Given the description of an element on the screen output the (x, y) to click on. 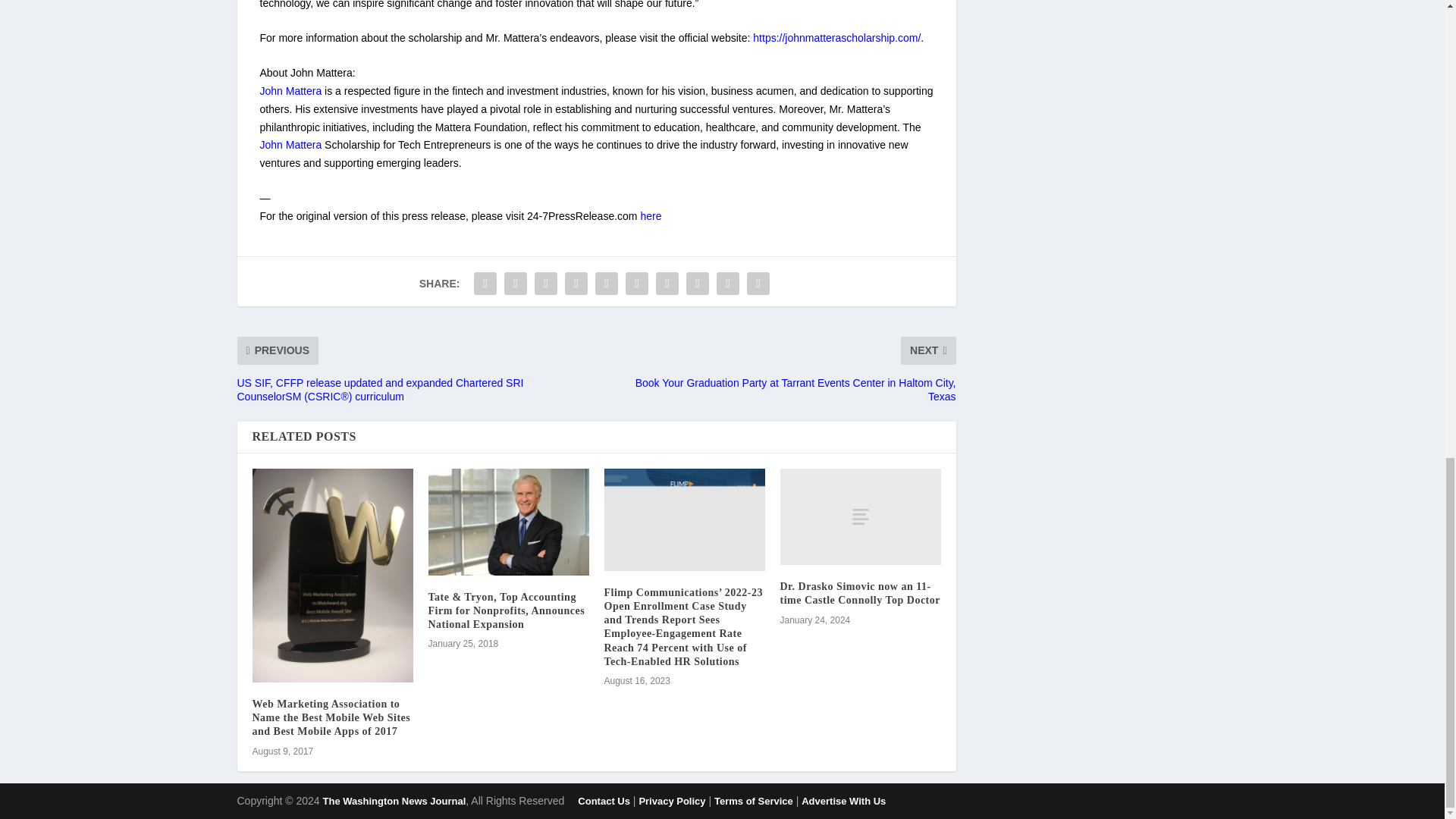
John Mattera (290, 91)
John Mattera (290, 144)
Dr. Drasko Simovic now an 11-time Castle Connolly Top Doctor (859, 516)
here (650, 215)
